Given the description of an element on the screen output the (x, y) to click on. 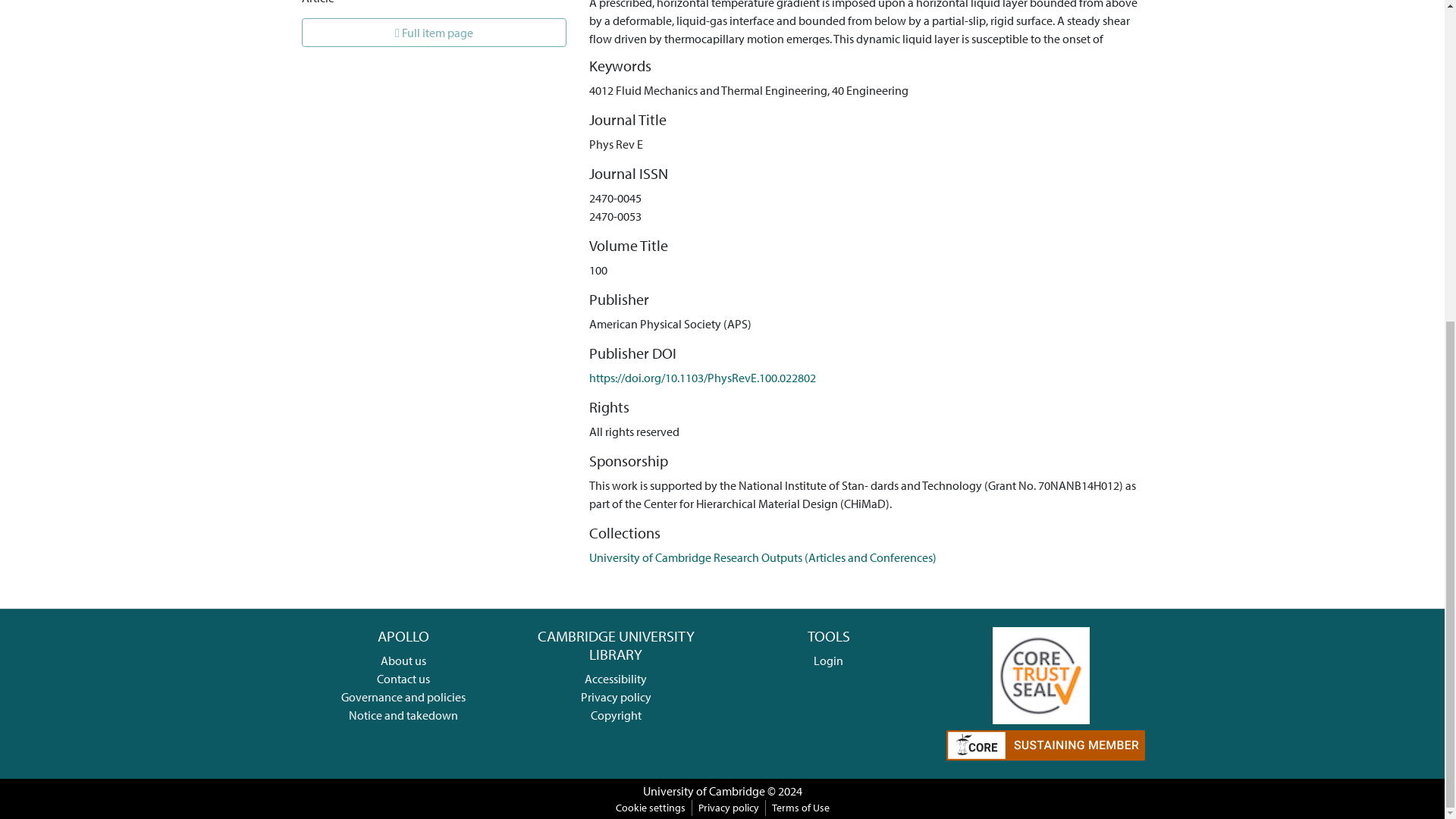
Privacy policy (615, 696)
Accessibility (615, 678)
Notice and takedown (403, 714)
Contact us (403, 678)
Copyright (616, 714)
Apollo CTS full application (1040, 673)
About us (403, 660)
Full item page (434, 32)
Governance and policies (402, 696)
